Given the description of an element on the screen output the (x, y) to click on. 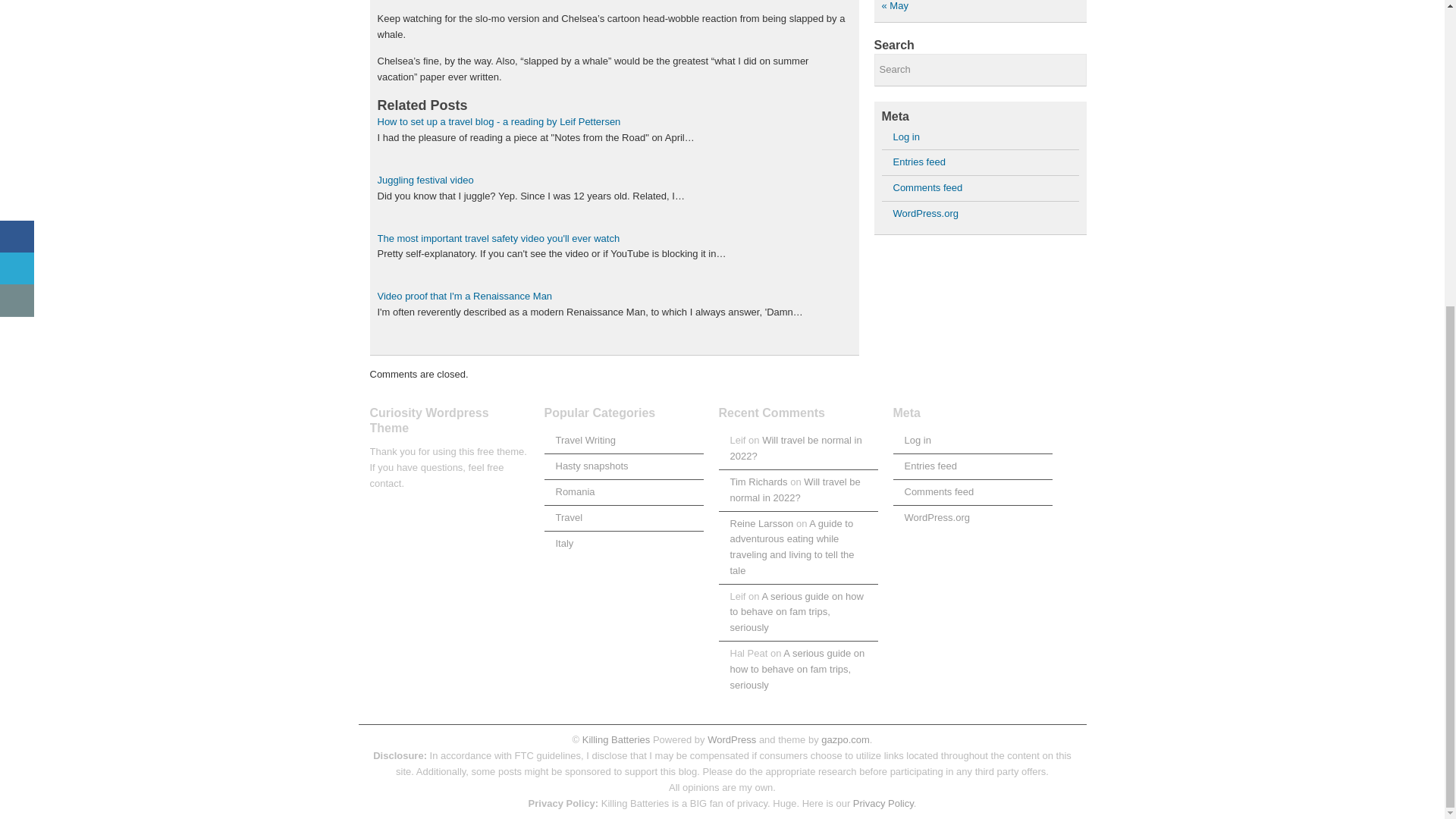
The most important travel safety video you'll ever watch (498, 238)
Log in (917, 439)
gazpo.com (845, 739)
Juggling festival video (425, 179)
Travel Writing (584, 439)
How to set up a travel blog - a reading by Leif Pettersen (499, 121)
Comments feed (939, 491)
Will travel be normal in 2022? (795, 447)
Entries feed (918, 161)
Reine Larsson (761, 523)
Killing Batteries (614, 739)
Killing Batteries (614, 739)
WordPress (731, 739)
Search (979, 70)
